Given the description of an element on the screen output the (x, y) to click on. 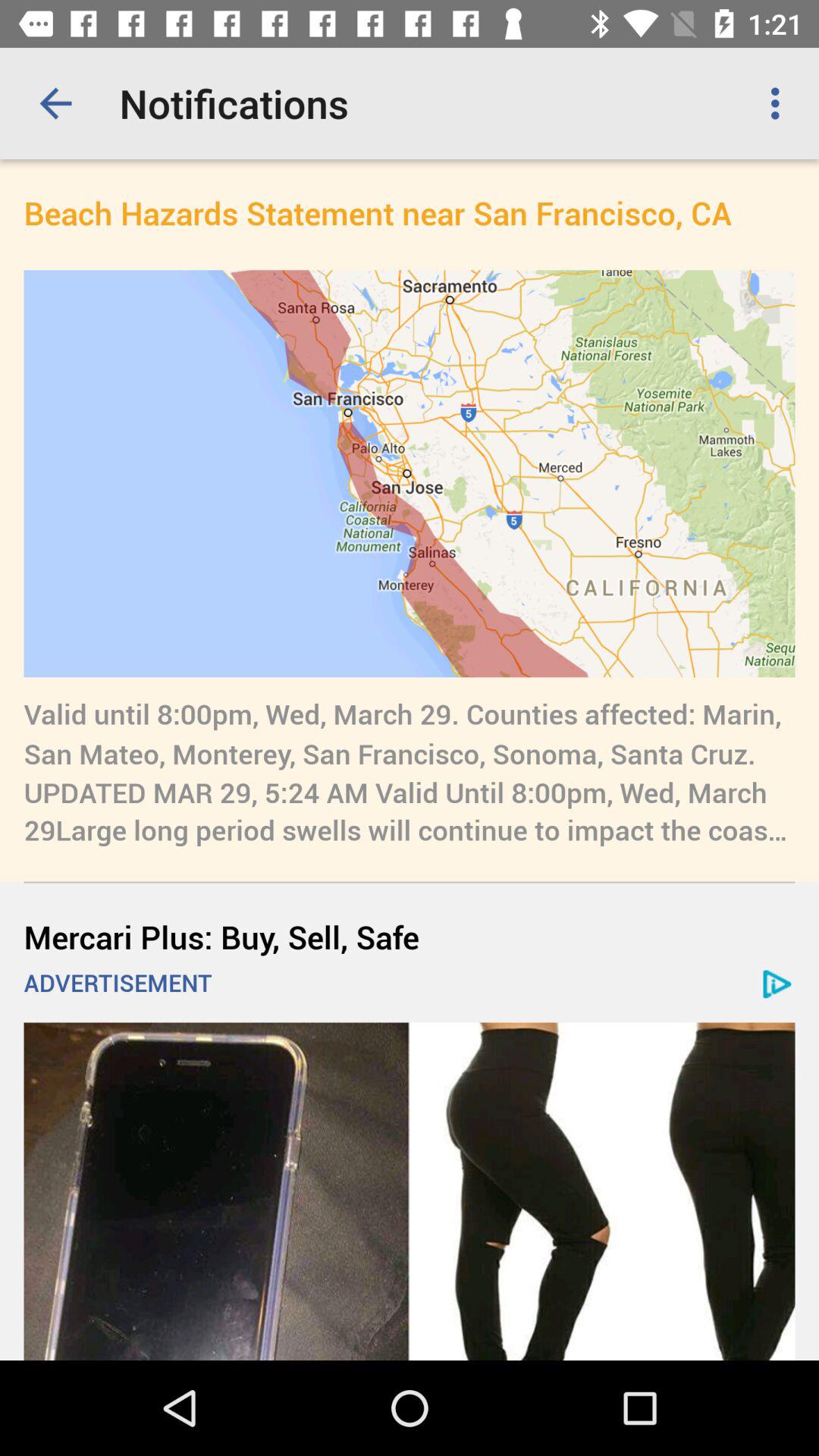
turn off item above beach hazards statement (779, 103)
